Given the description of an element on the screen output the (x, y) to click on. 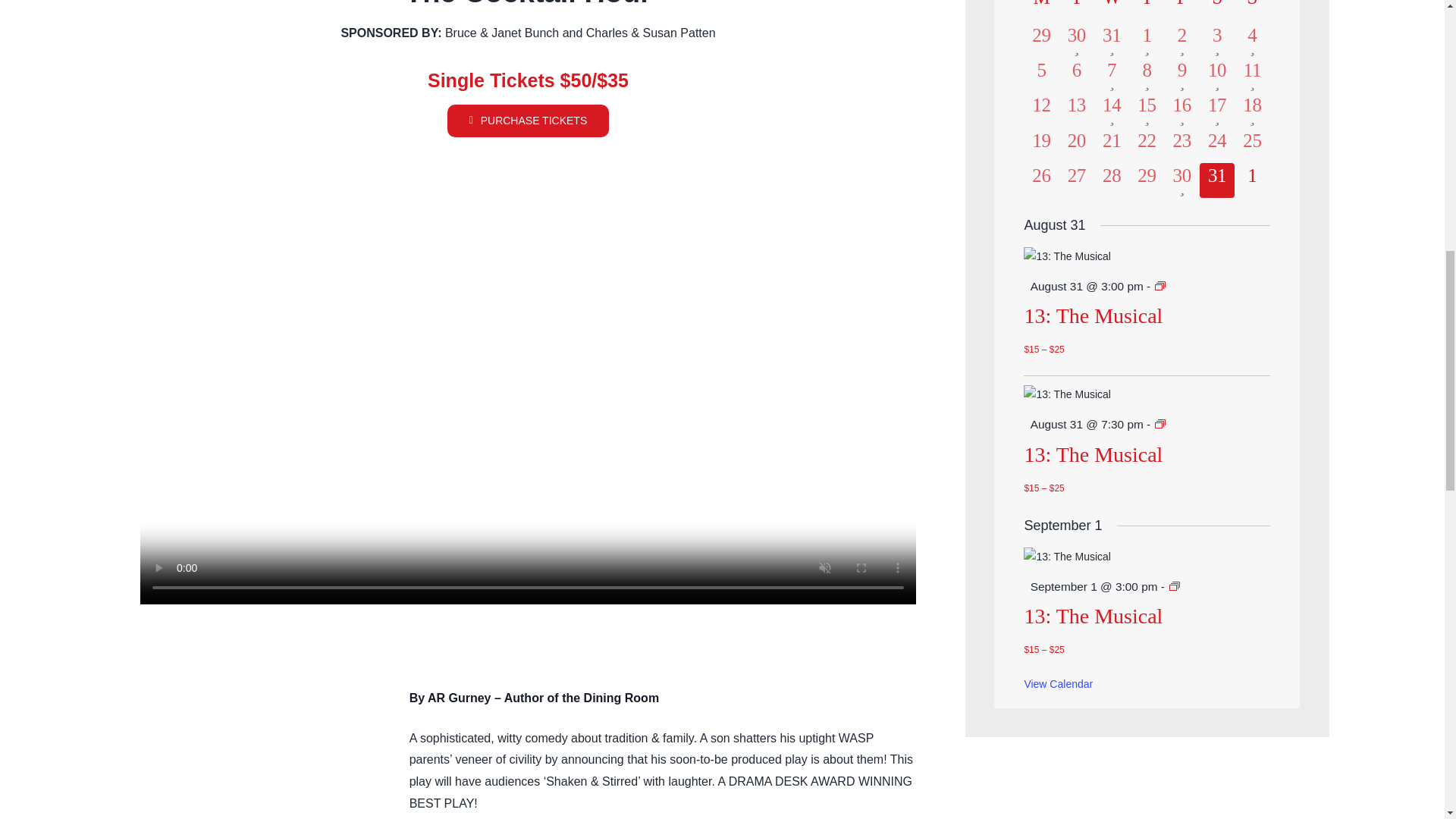
PURCHASE TICKETS (527, 120)
Purchase tickets for The Cocktail Hour (527, 120)
